Given the description of an element on the screen output the (x, y) to click on. 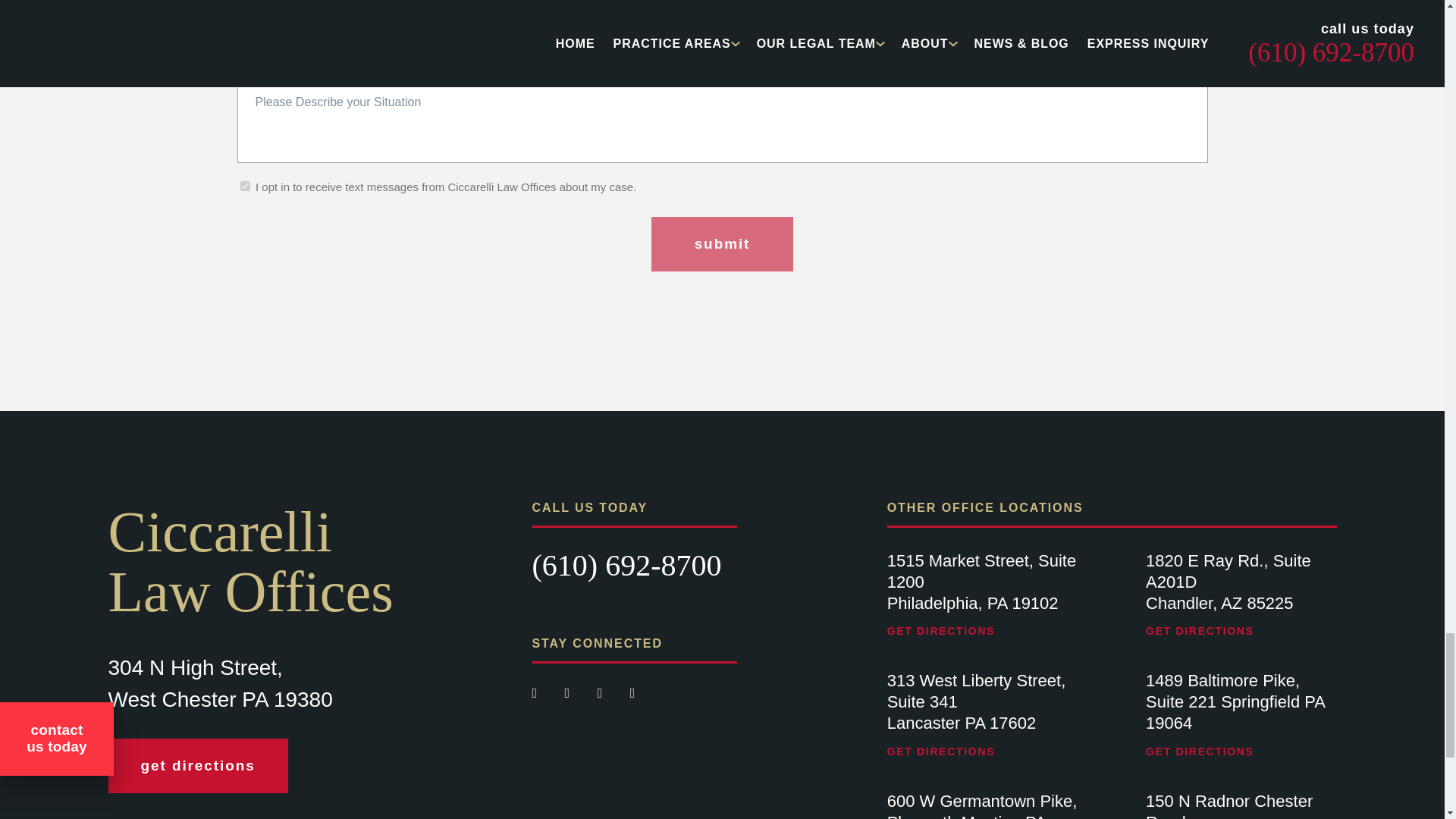
Twitter (568, 693)
Youtube (601, 693)
Call Toll Free (627, 564)
Linkedin (632, 693)
Facebook (536, 693)
